Given the description of an element on the screen output the (x, y) to click on. 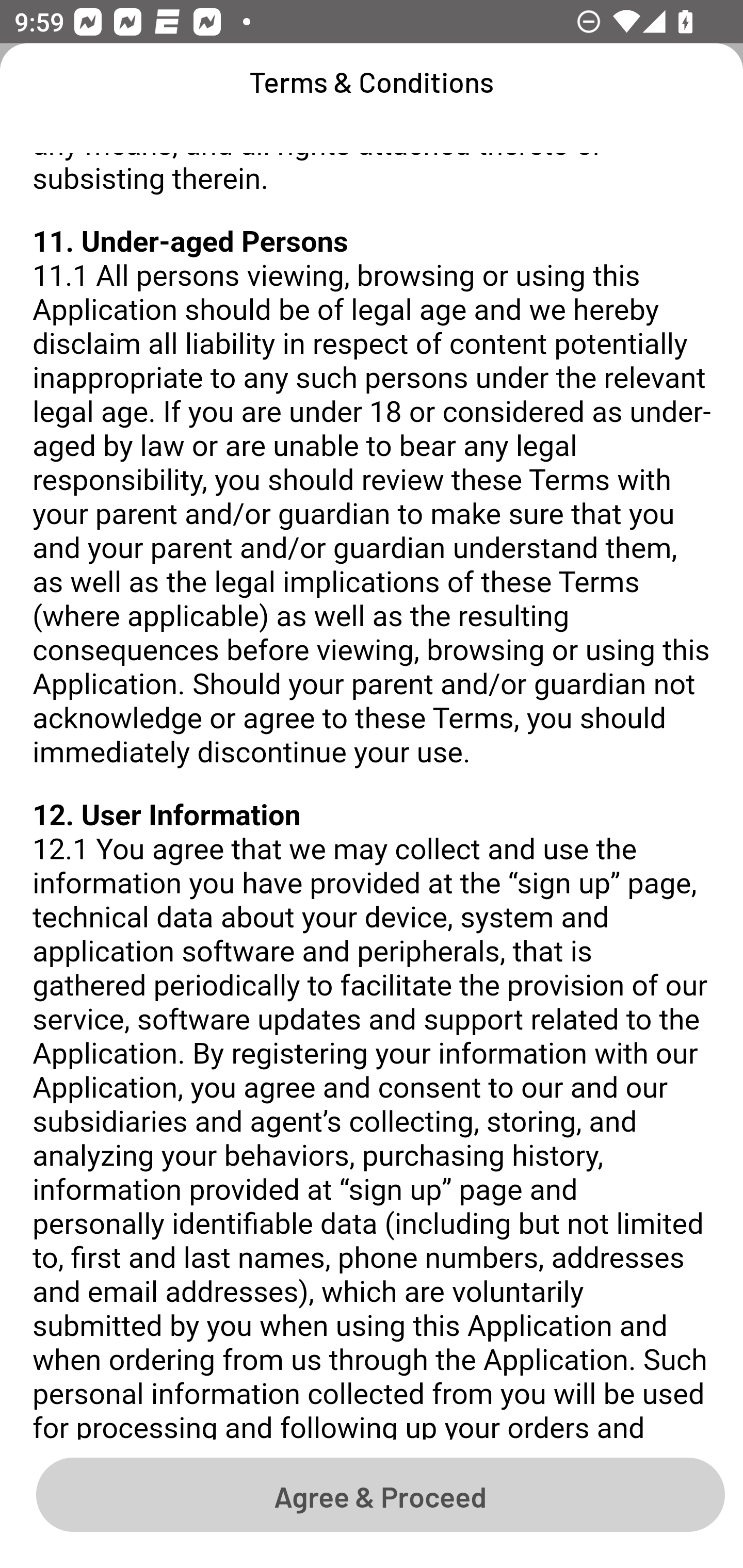
Agree & Proceed (380, 1494)
